Given the description of an element on the screen output the (x, y) to click on. 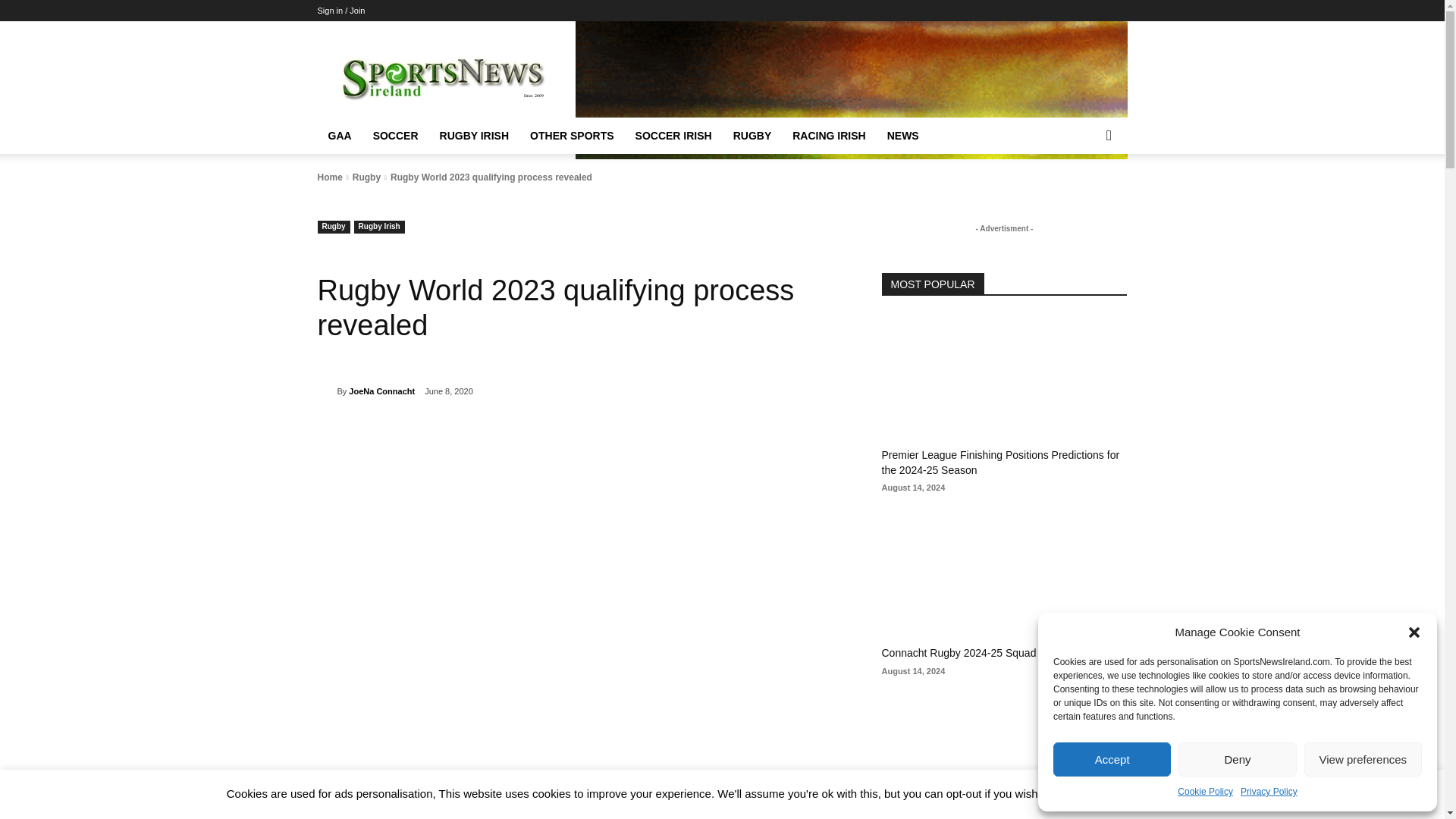
OTHER SPORTS (571, 135)
Deny (1236, 759)
Privacy Policy (1268, 791)
SOCCER (395, 135)
RUGBY IRISH (474, 135)
Accept (1111, 759)
GAA (339, 135)
Cookie Policy (1205, 791)
View preferences (1363, 759)
JoeNa Connacht (326, 391)
